Given the description of an element on the screen output the (x, y) to click on. 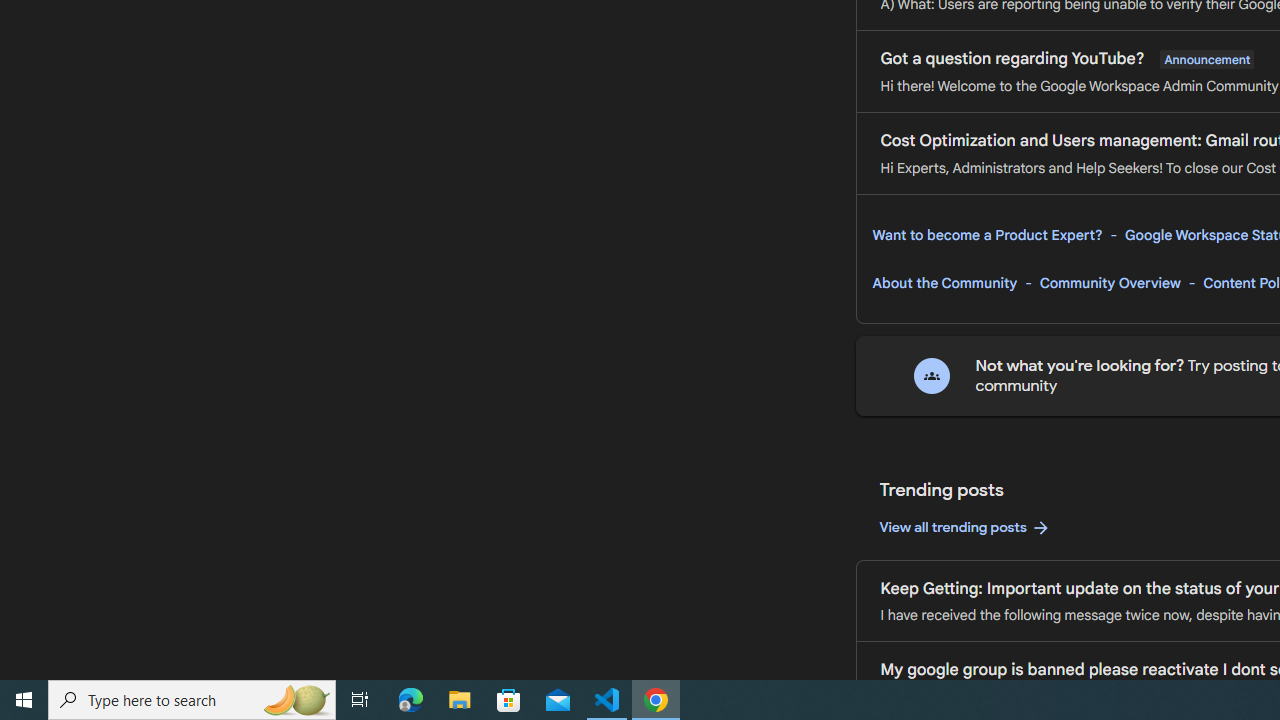
Want to become a Product Expert? (987, 235)
Community Overview (1110, 283)
About the Community (944, 283)
View all trending posts (964, 527)
